Given the description of an element on the screen output the (x, y) to click on. 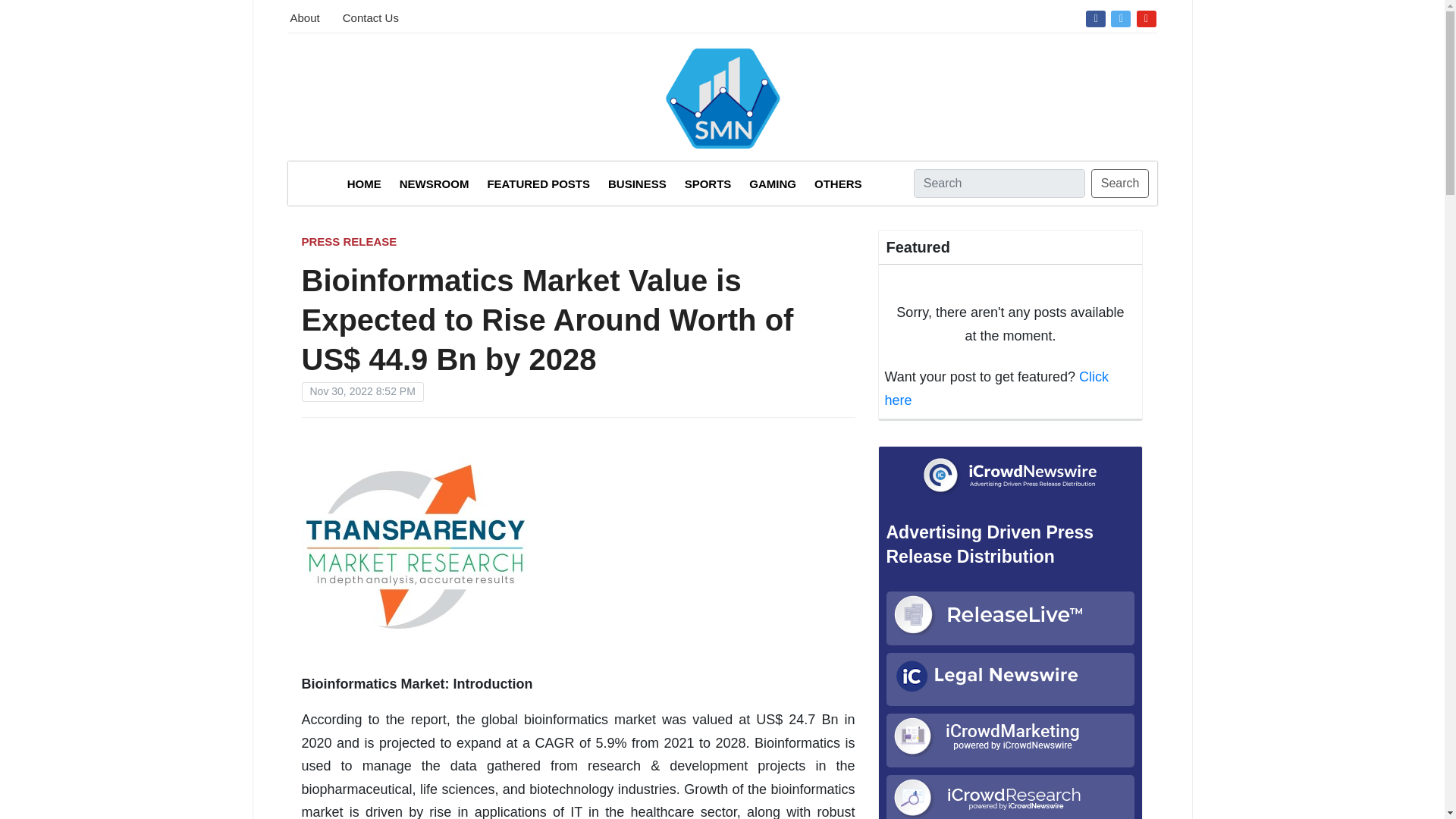
HOME (364, 183)
Twitter (1120, 17)
FEATURED POSTS (537, 183)
PRESS RELEASE (349, 241)
NEWSROOM (433, 183)
GAMING (772, 183)
OTHERS (837, 183)
SPORTS (708, 183)
About (303, 15)
Facebook (1095, 17)
